Given the description of an element on the screen output the (x, y) to click on. 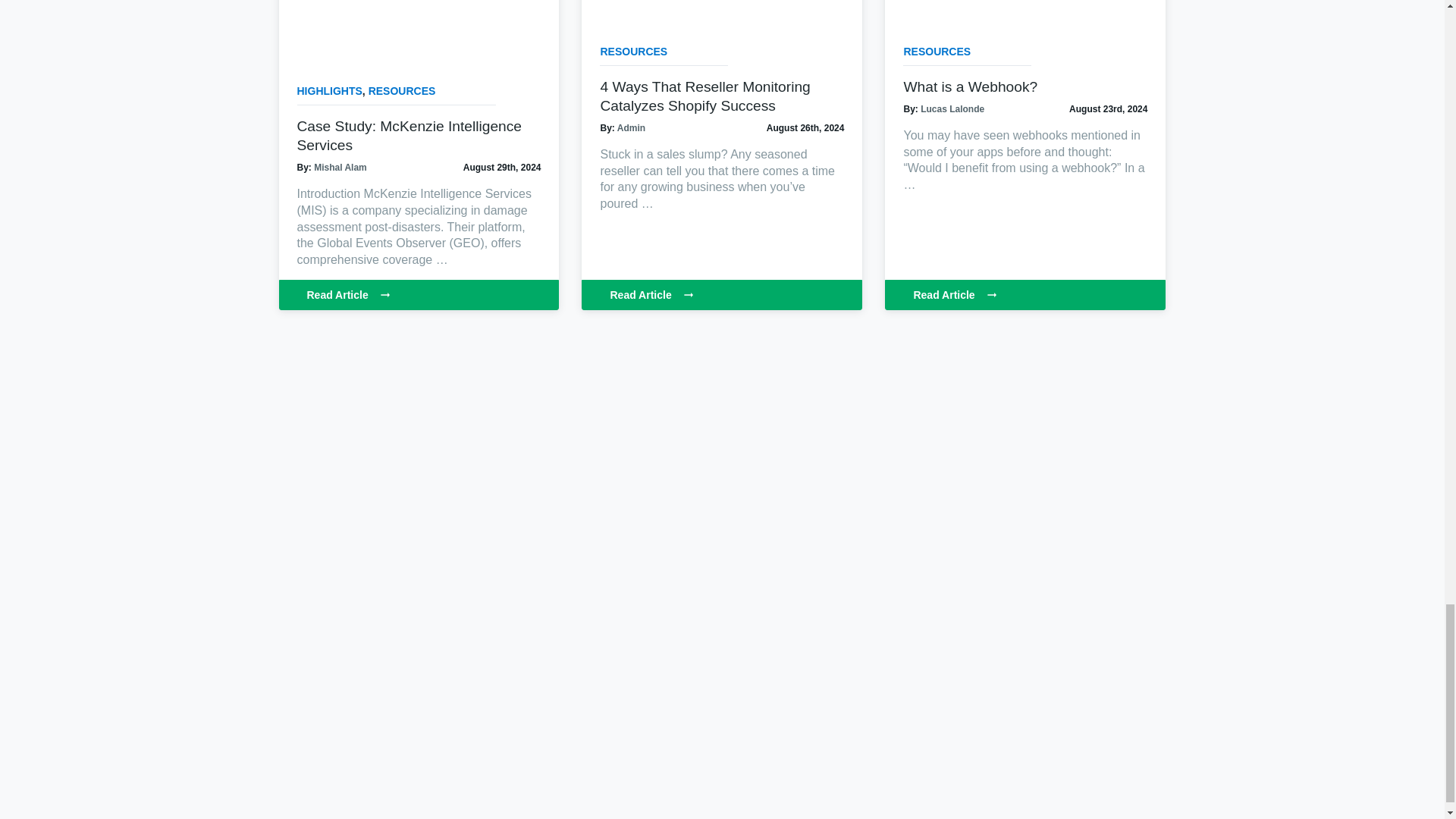
Posts by Lucas Lalonde (952, 109)
Lucas Lalonde (952, 109)
Case Study: McKenzie Intelligence Services (409, 135)
Mishal Alam (340, 167)
Read Article (1025, 295)
Posts by Admin (631, 127)
Read Article (419, 295)
RESOURCES (401, 91)
Read Article (720, 295)
RESOURCES (632, 51)
